Given the description of an element on the screen output the (x, y) to click on. 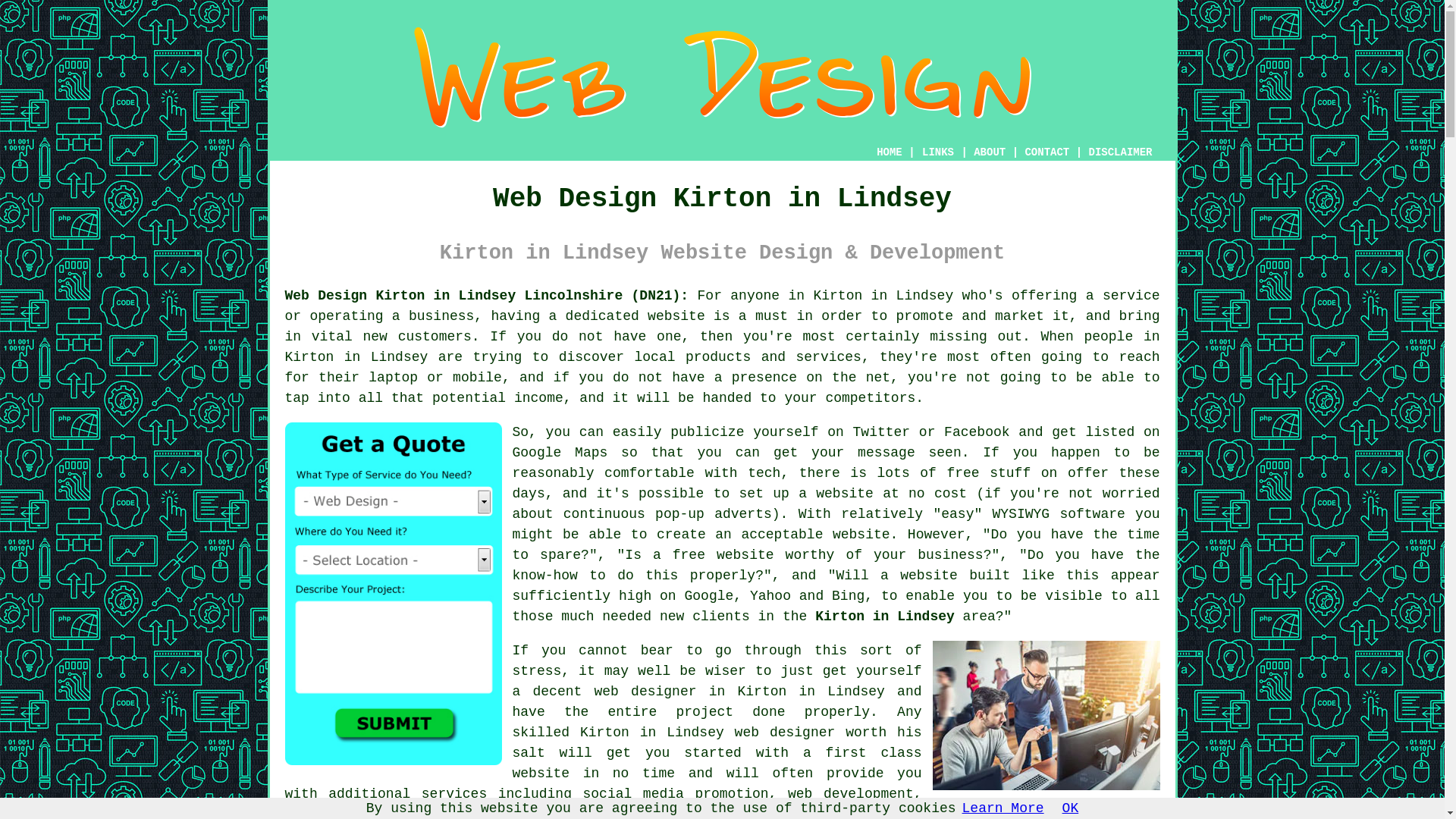
HOME (889, 152)
website (675, 315)
Google Maps (560, 452)
Web Design Kirton in Lindsey (721, 77)
LINKS (938, 151)
Kirton in Lindsey (885, 616)
website (541, 773)
Kirton in Lindsey web designer (706, 732)
services (454, 793)
Web Design Kirton in Lindsey Lincolnshire (1046, 715)
